Given the description of an element on the screen output the (x, y) to click on. 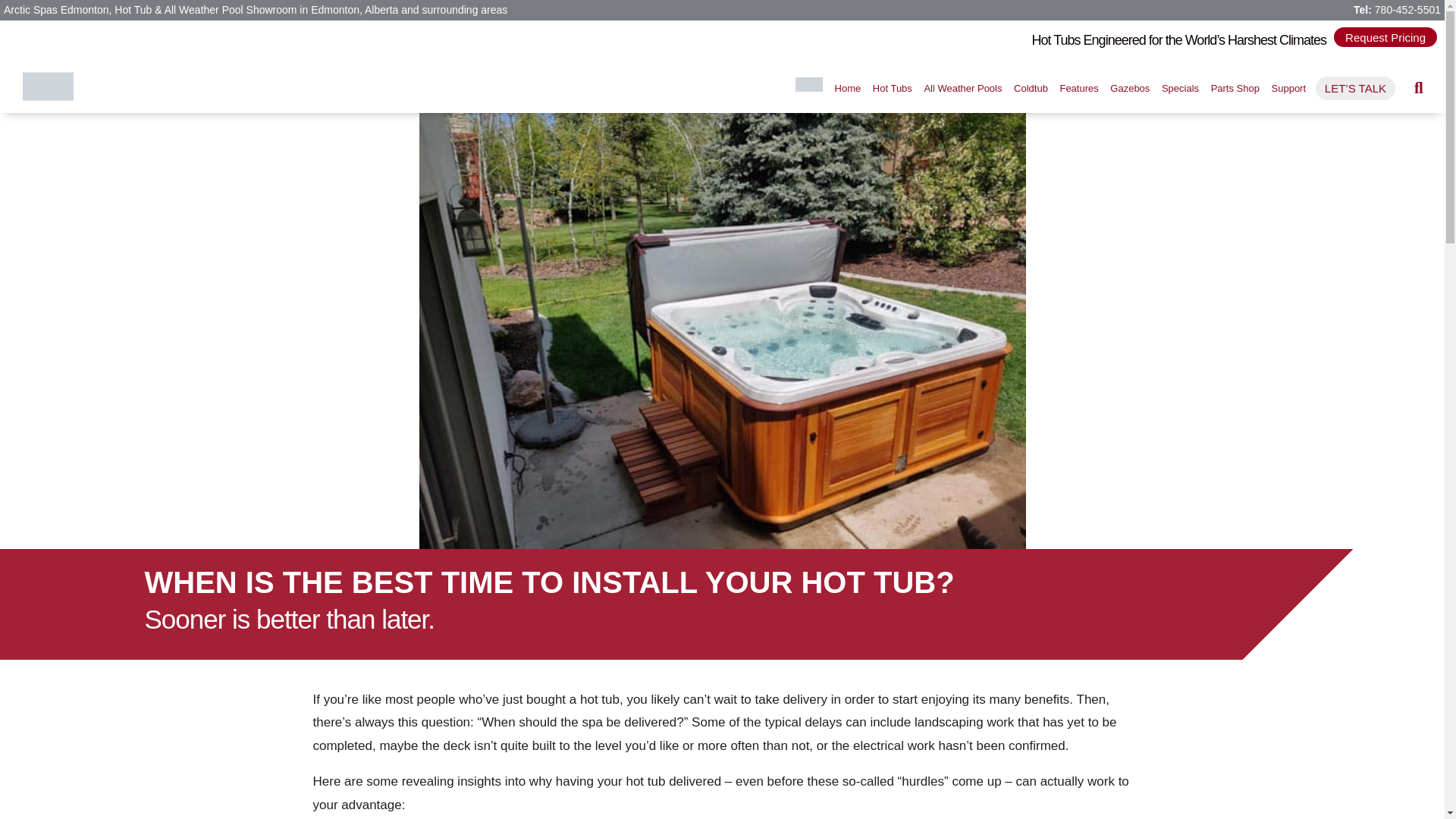
Return to the home page (846, 88)
Support (1287, 88)
Choose Your Location (809, 88)
Request Pricing (1385, 36)
Gazebos (1129, 88)
780-452-5501 (1407, 9)
Arctic Spas Hot Tubs Range (892, 88)
Coldtub (1030, 88)
Buy Arctic Spas Chemicals and Accessories Online (1235, 88)
Our Latest Special Offers (1180, 88)
